Given the description of an element on the screen output the (x, y) to click on. 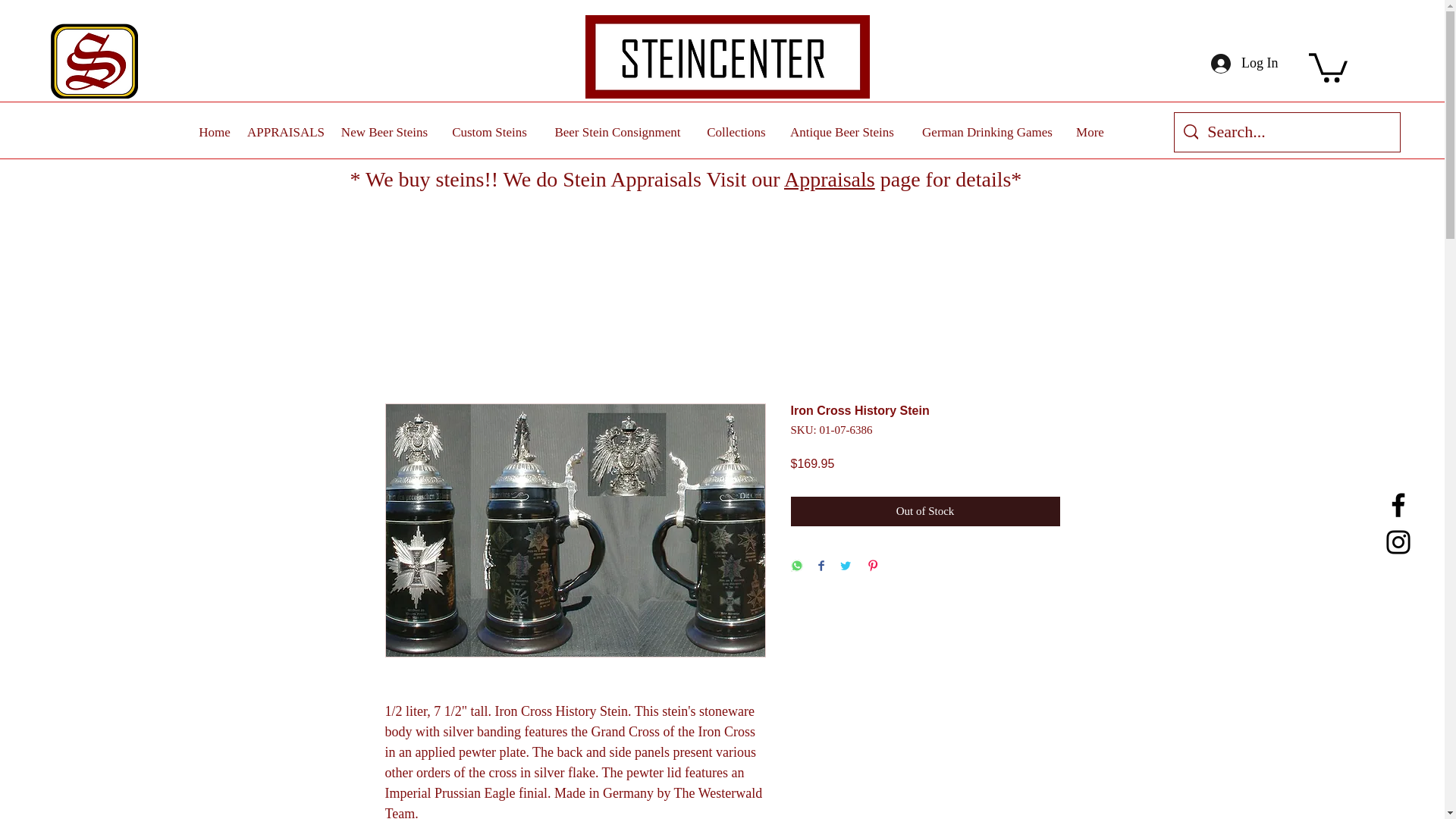
Beer Stein Consignment (616, 132)
Collections (735, 132)
German Drinking Games (987, 132)
New Beer Steins (384, 132)
Appraisals (829, 178)
page (900, 178)
Log In (1231, 63)
Out of Stock (924, 511)
Antique Beer Steins (841, 132)
APPRAISALS (284, 132)
